Given the description of an element on the screen output the (x, y) to click on. 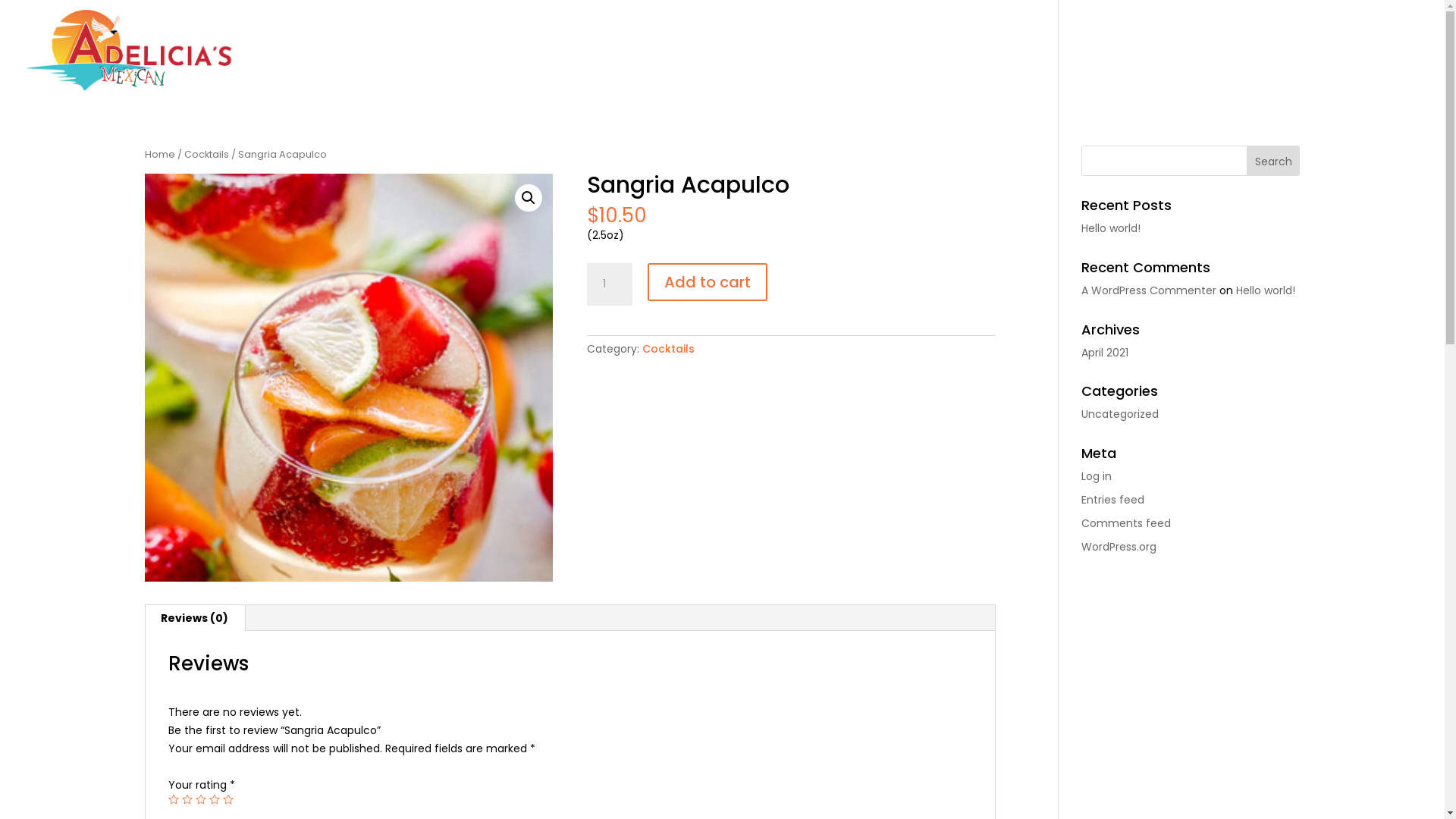
Reviews (0) Element type: text (194, 617)
About Element type: text (1320, 50)
Uncategorized Element type: text (1119, 413)
Drinks Element type: text (1258, 50)
Entries feed Element type: text (1112, 499)
5 Element type: text (227, 798)
Hello world! Element type: text (1110, 227)
A WordPress Commenter Element type: text (1148, 290)
2 Element type: text (187, 798)
Menu Element type: text (1198, 50)
4 Element type: text (214, 798)
3 Element type: text (200, 798)
WordPress.org Element type: text (1118, 546)
Comments feed Element type: text (1125, 522)
Home Element type: text (1139, 50)
Hello world! Element type: text (1265, 290)
sangria Element type: hover (348, 377)
Contact Element type: text (1390, 50)
Cocktails Element type: text (668, 348)
Home Element type: text (159, 154)
Cocktails Element type: text (205, 154)
April 2021 Element type: text (1104, 352)
1 Element type: text (173, 798)
Add to cart Element type: text (707, 282)
Log in Element type: text (1096, 475)
Search Element type: text (1273, 160)
